Given the description of an element on the screen output the (x, y) to click on. 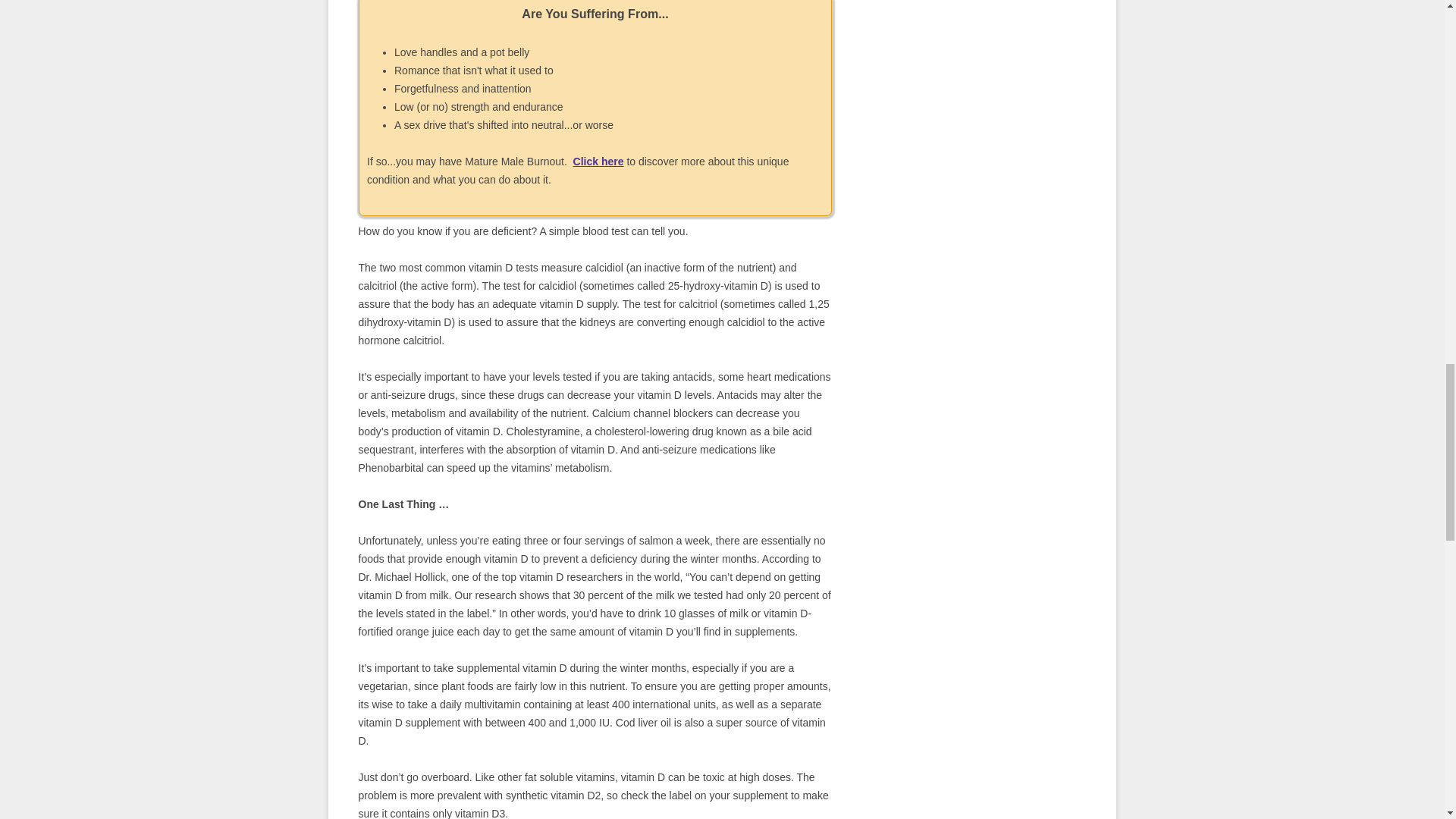
Click here (598, 161)
